Given the description of an element on the screen output the (x, y) to click on. 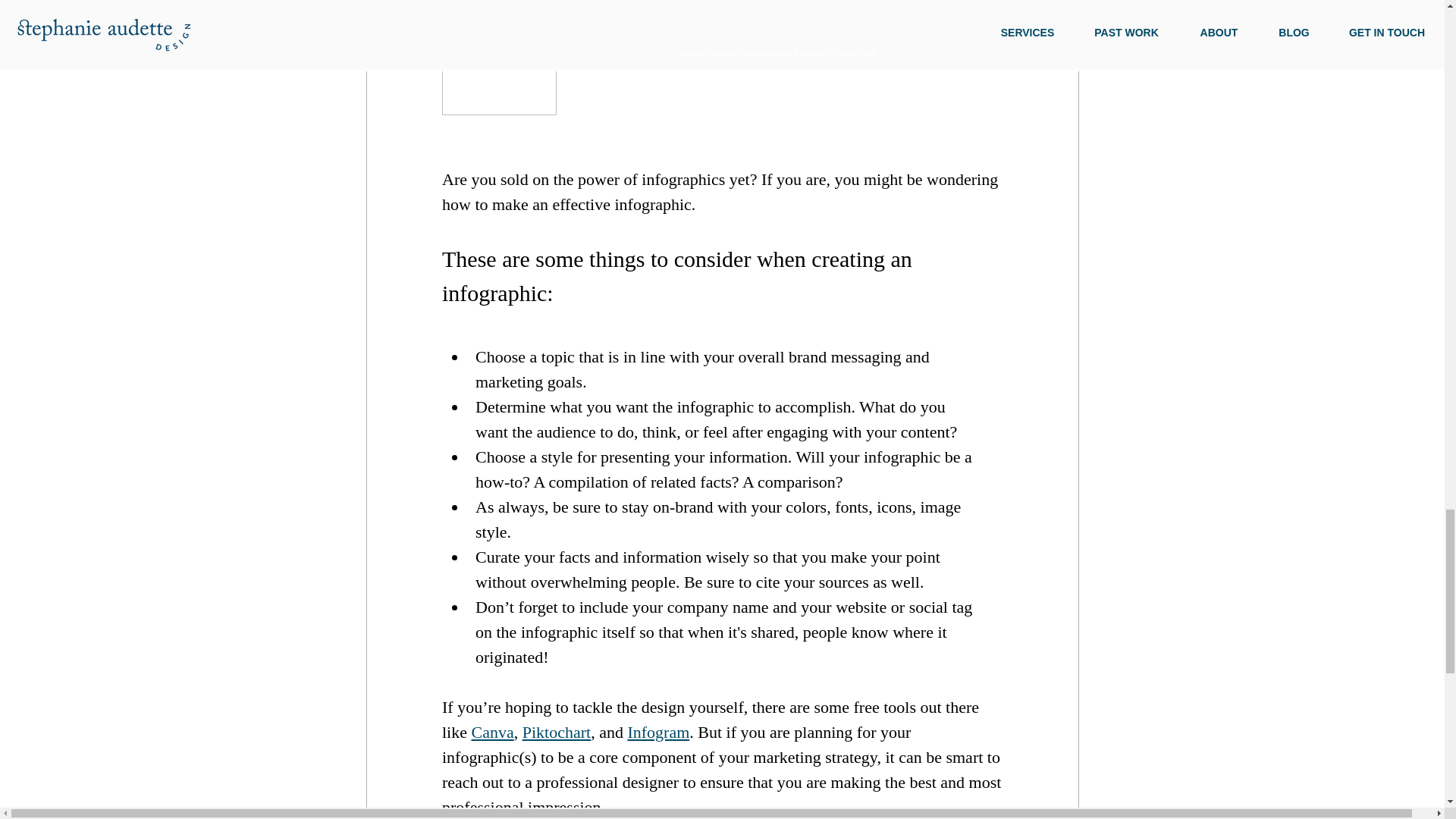
Infogram (657, 732)
Piktochart (555, 732)
Canva (491, 732)
